Given the description of an element on the screen output the (x, y) to click on. 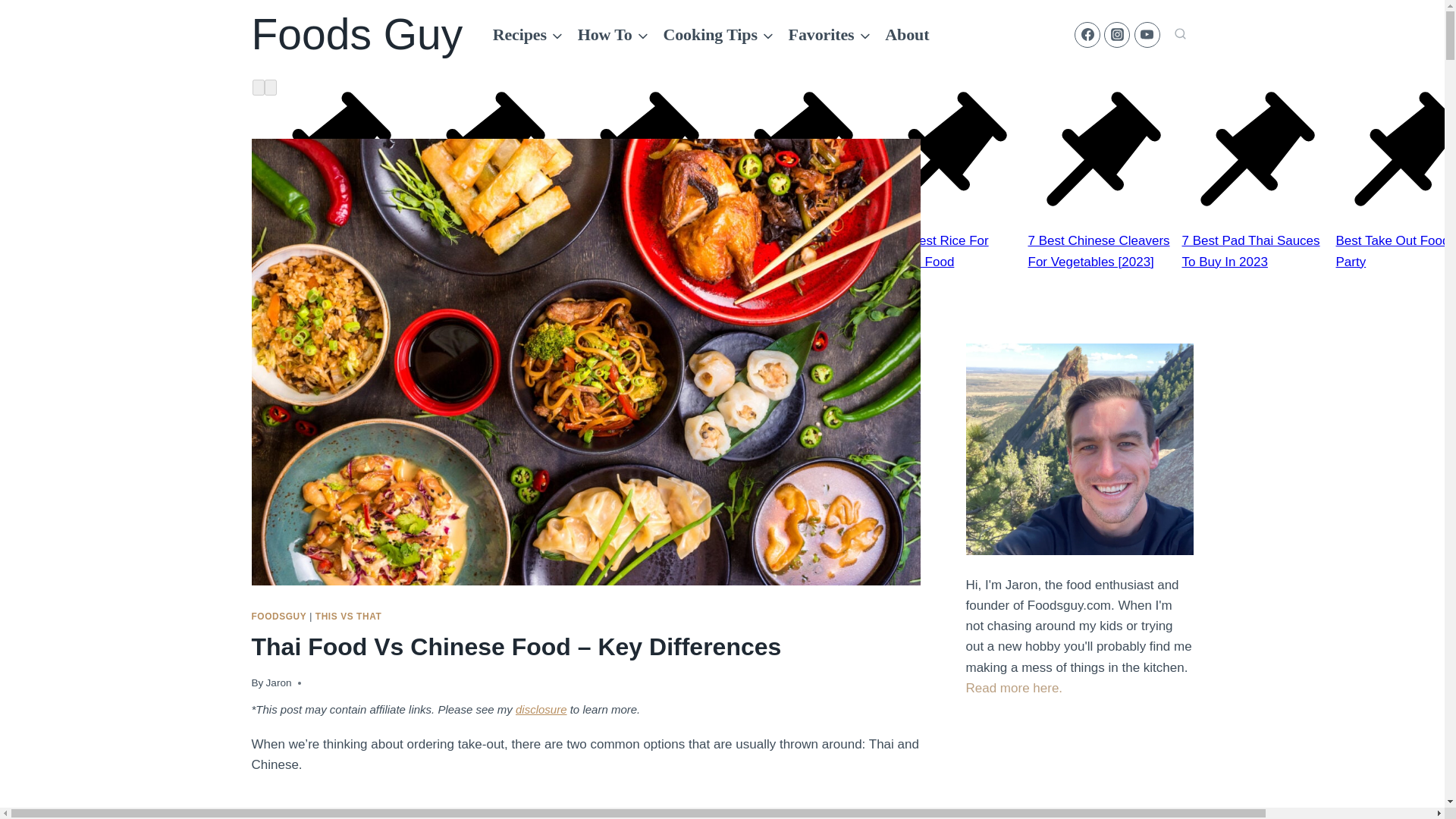
Cooking Tips (718, 34)
About (906, 34)
Foods Guy (357, 34)
How To (613, 34)
FOODSGUY (279, 615)
THIS VS THAT (348, 615)
Recipes (527, 34)
Favorites (828, 34)
